Given the description of an element on the screen output the (x, y) to click on. 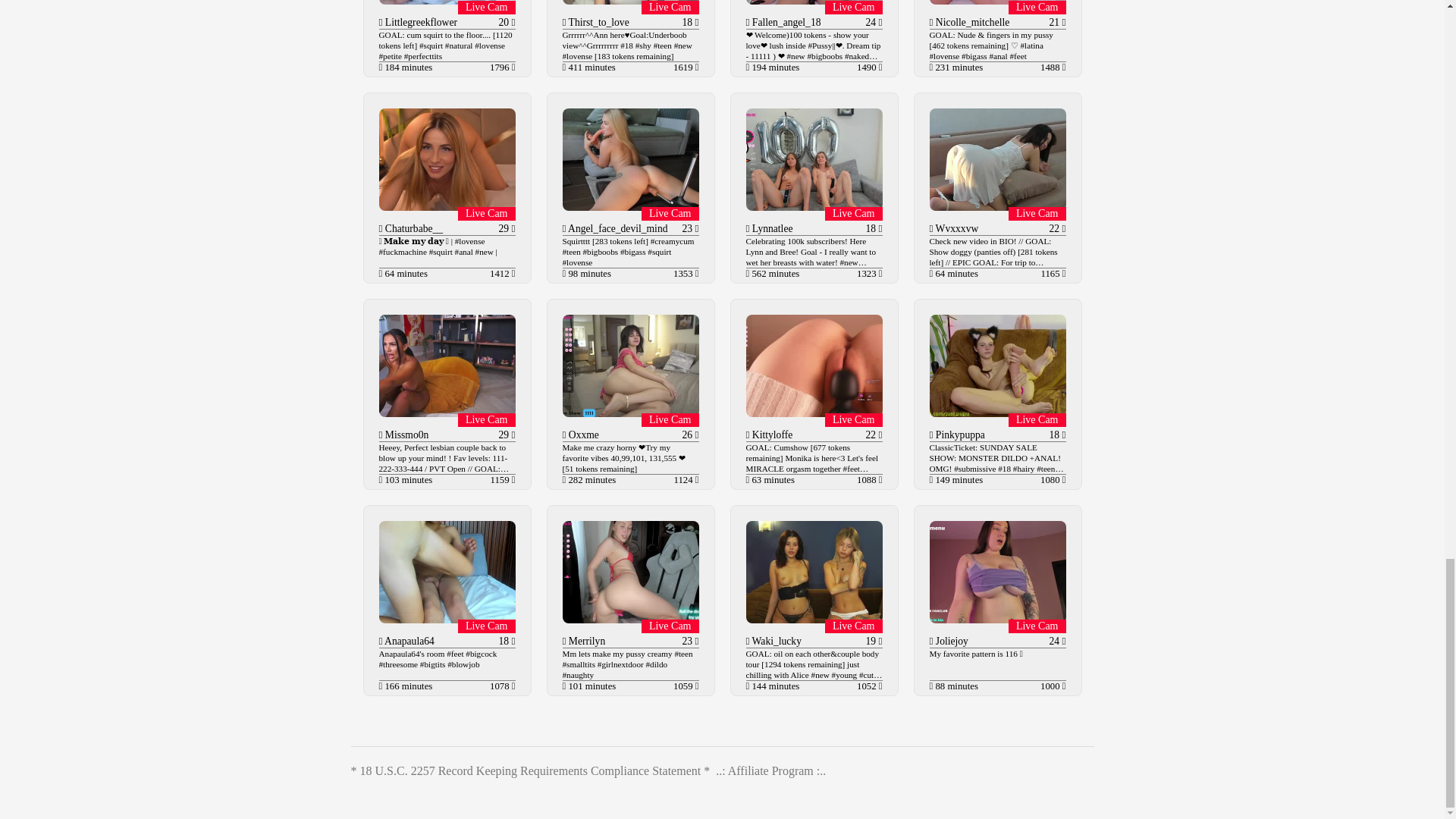
Littlegreekflower (419, 21)
